Given the description of an element on the screen output the (x, y) to click on. 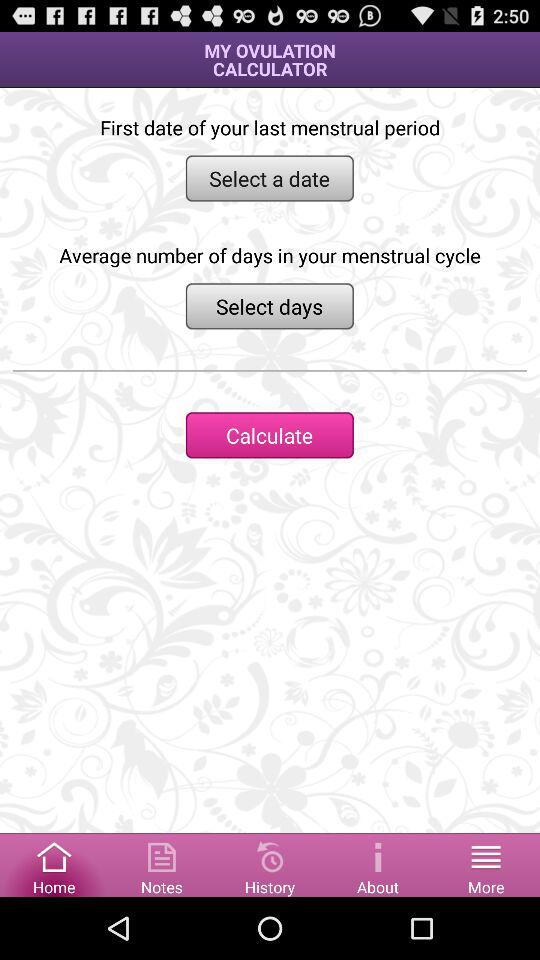
open more options (486, 864)
